Given the description of an element on the screen output the (x, y) to click on. 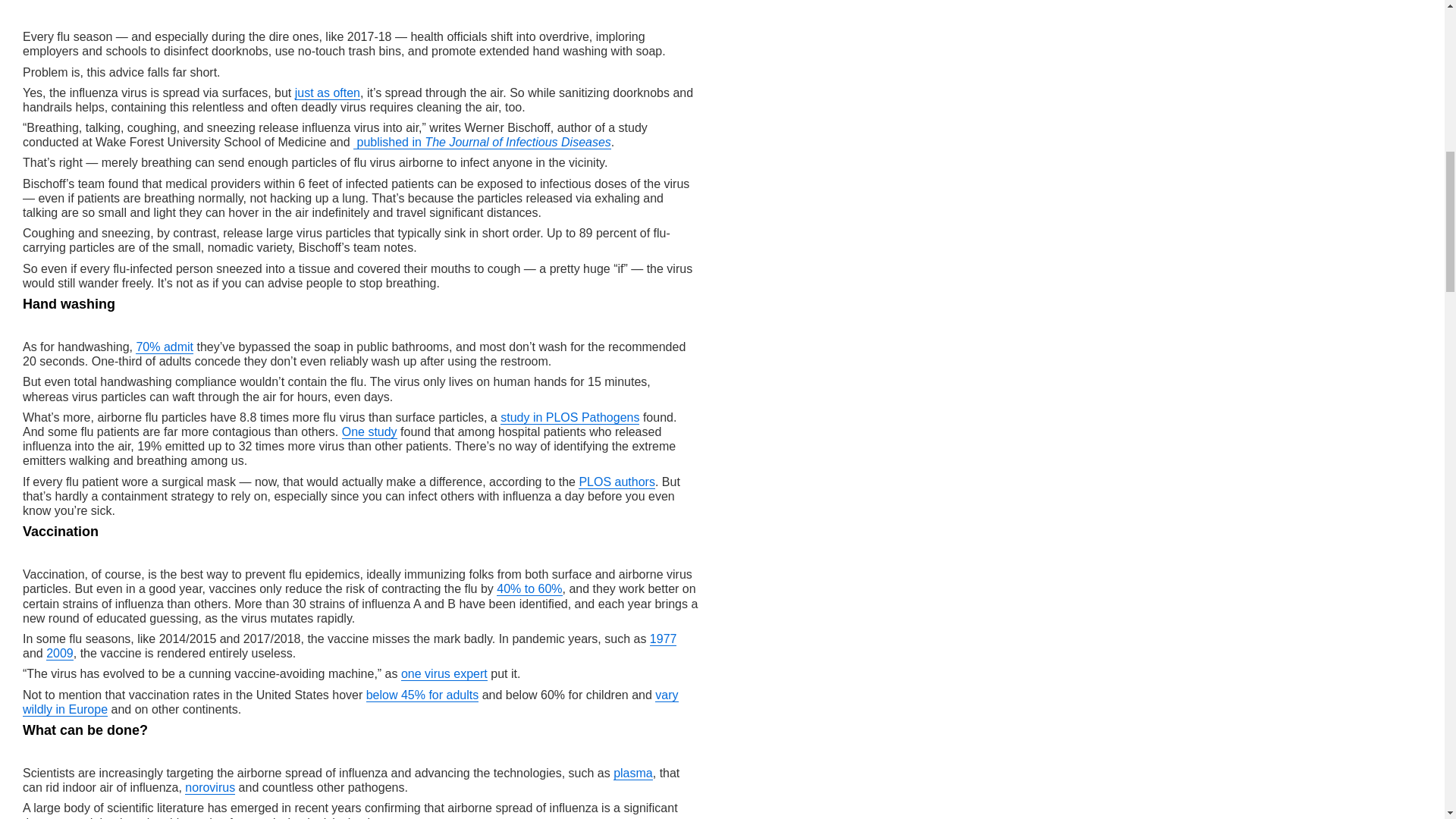
vary wildly in Europe (350, 701)
2009 (60, 653)
PLOS authors (616, 481)
just as often (327, 92)
study in PLOS Pathogens (569, 417)
 published in The Journal of Infectious Diseases (482, 141)
1977 (663, 638)
One study (369, 431)
norovirus (209, 787)
plasma (632, 772)
